Given the description of an element on the screen output the (x, y) to click on. 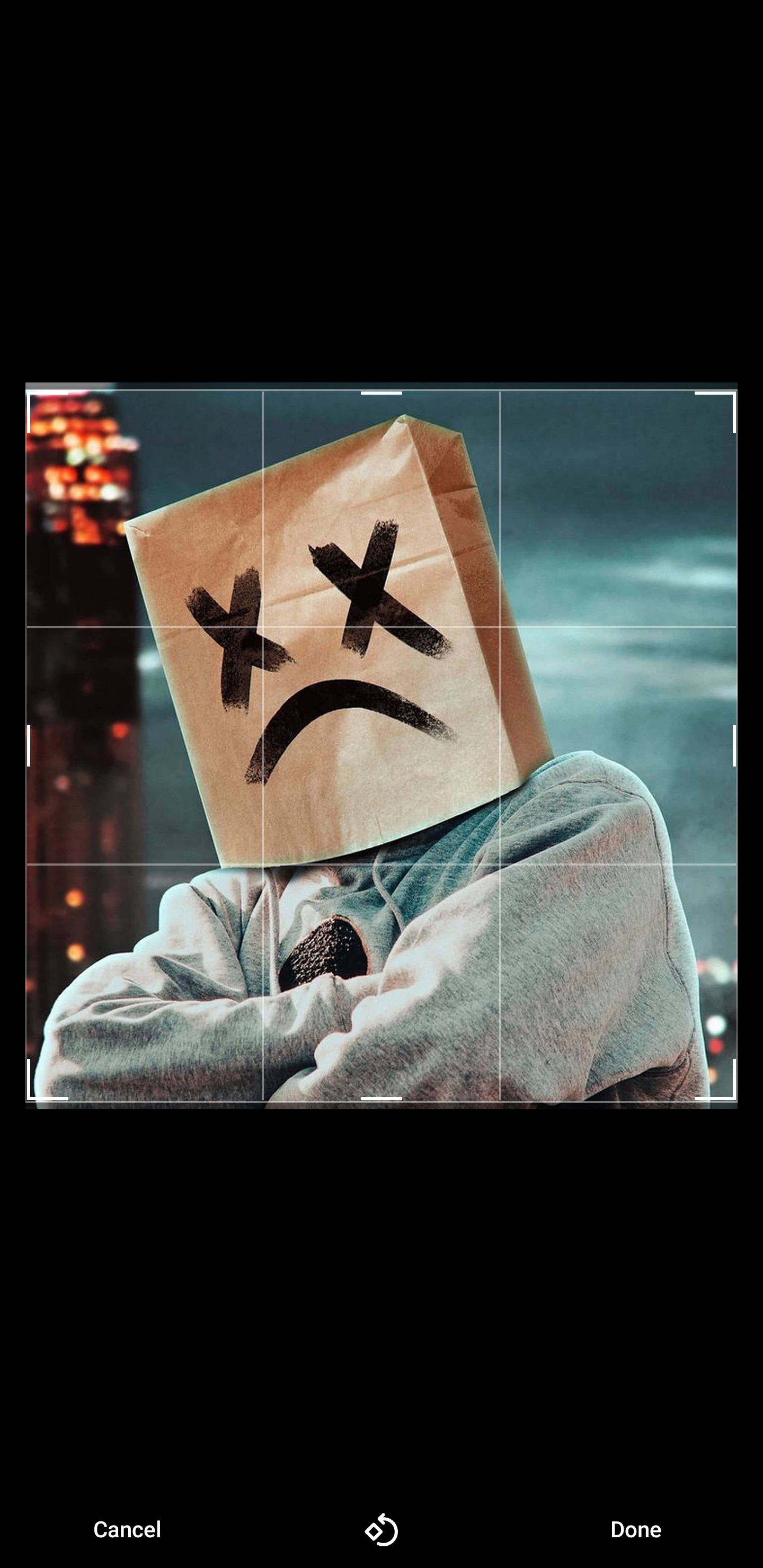
CANCEL (127, 1529)
Rotate left (381, 1529)
DONE (635, 1529)
